Given the description of an element on the screen output the (x, y) to click on. 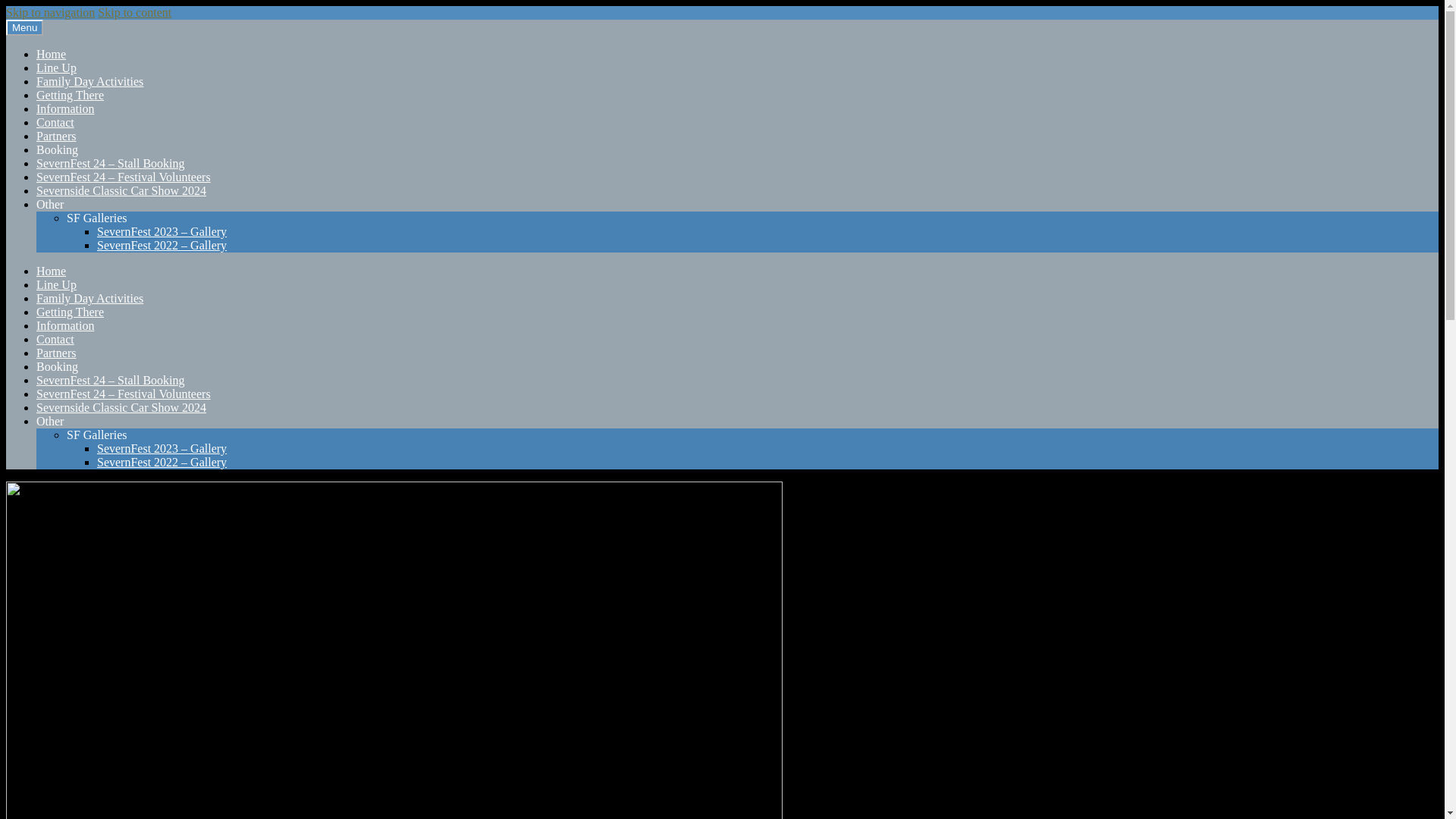
SF Galleries (97, 217)
Information (65, 325)
Severnside Classic Car Show 2024 (121, 190)
Other (50, 420)
Skip to navigation (49, 11)
Skip to content (134, 11)
Other (50, 204)
Contact (55, 338)
Contact (55, 122)
Family Day Activities (89, 81)
Severnside Classic Car Show 2024 (121, 407)
Line Up (56, 67)
Getting There (69, 311)
Menu (24, 27)
SF Galleries (97, 434)
